Given the description of an element on the screen output the (x, y) to click on. 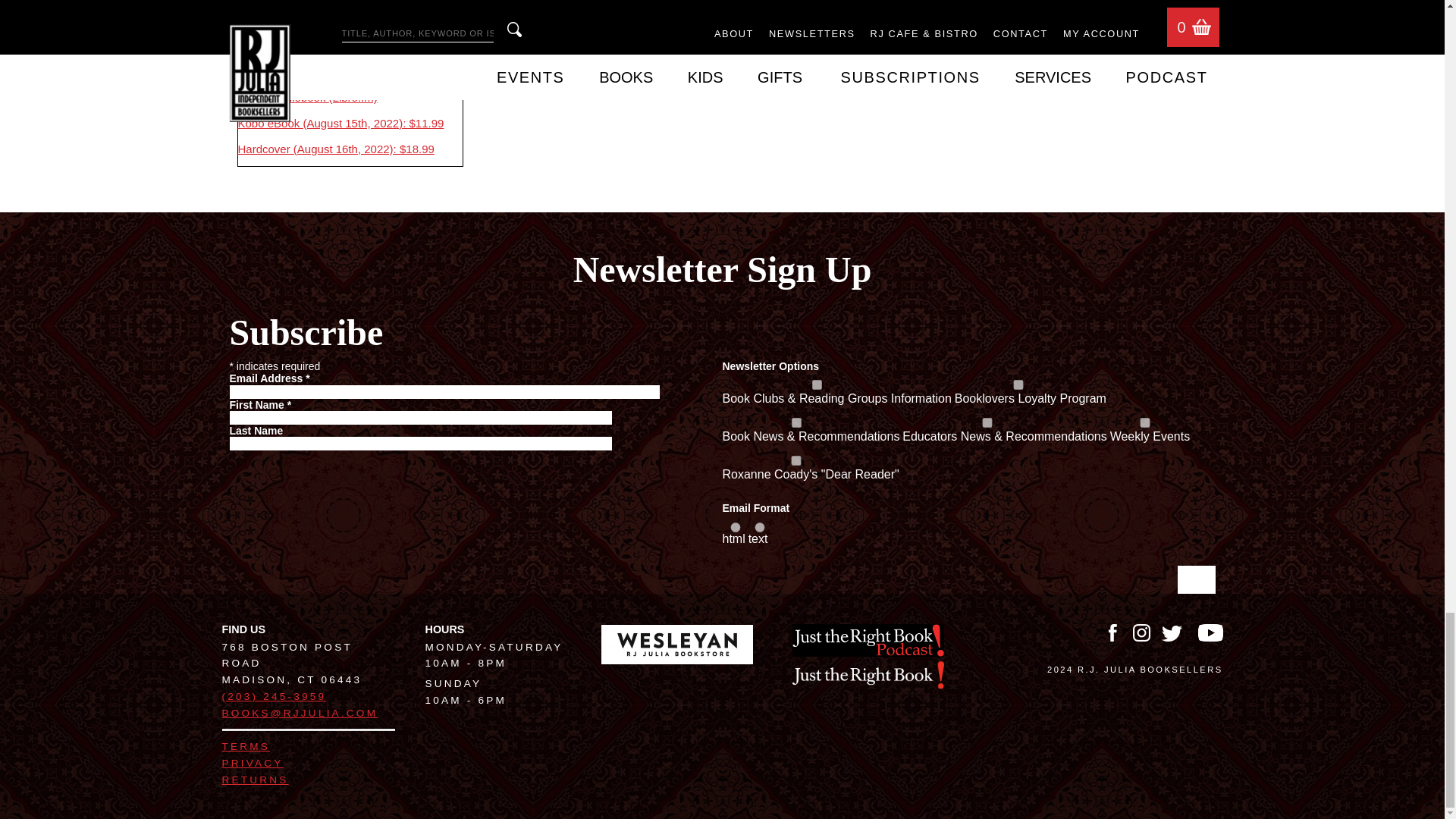
32 (1144, 422)
2 (1018, 384)
8 (986, 422)
4 (795, 422)
html (735, 527)
1 (816, 384)
text (760, 527)
16 (795, 460)
Subscribe (1195, 579)
